Given the description of an element on the screen output the (x, y) to click on. 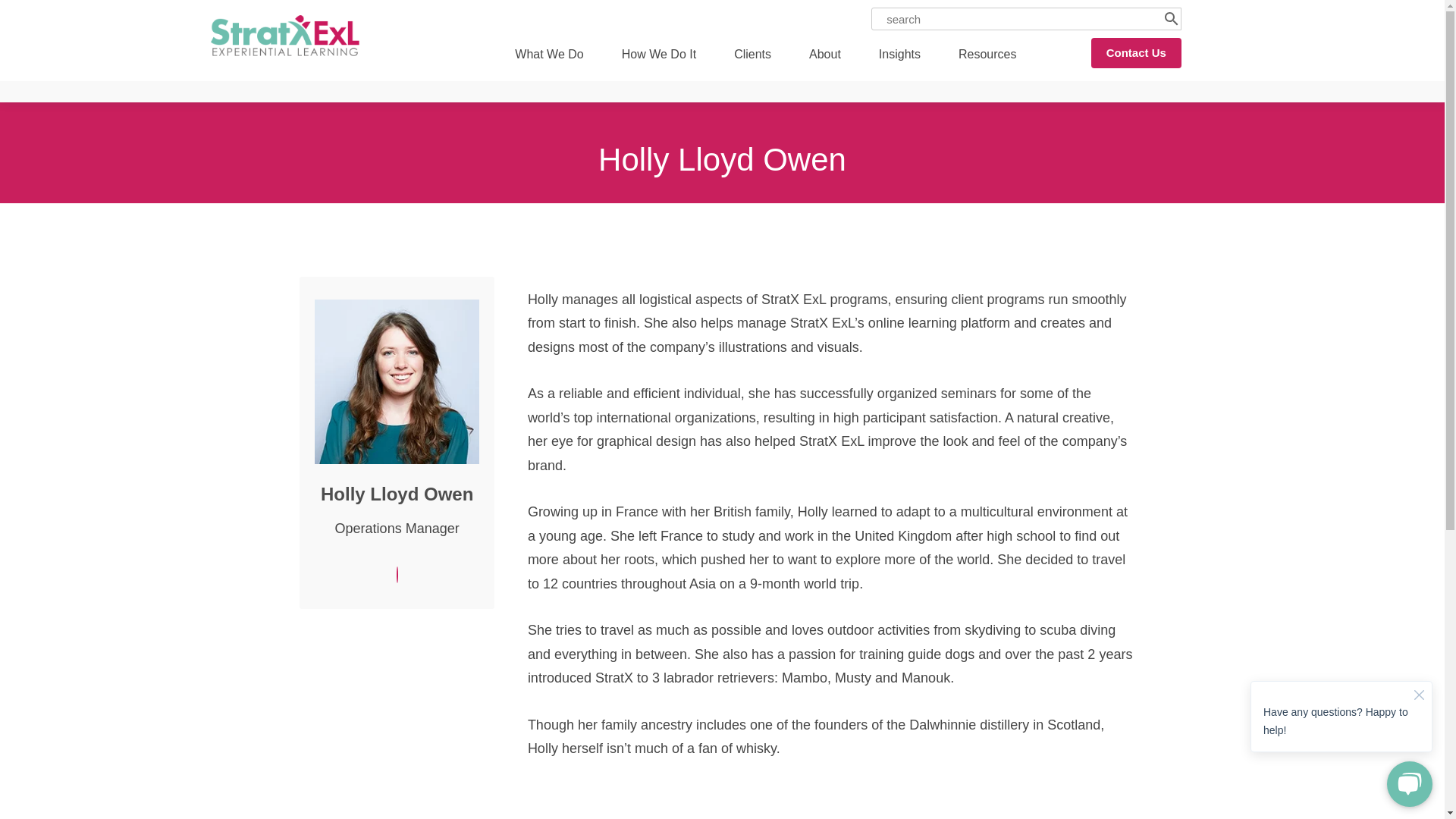
Holly Lloyd Owen.jpg (396, 381)
Resources (987, 54)
How We Do It (658, 54)
Insights (899, 54)
About (824, 54)
Contact Us (1135, 52)
What We Do (548, 54)
Clients (752, 54)
Contact Us (1135, 52)
Stratx-ExL-2 (285, 36)
